Given the description of an element on the screen output the (x, y) to click on. 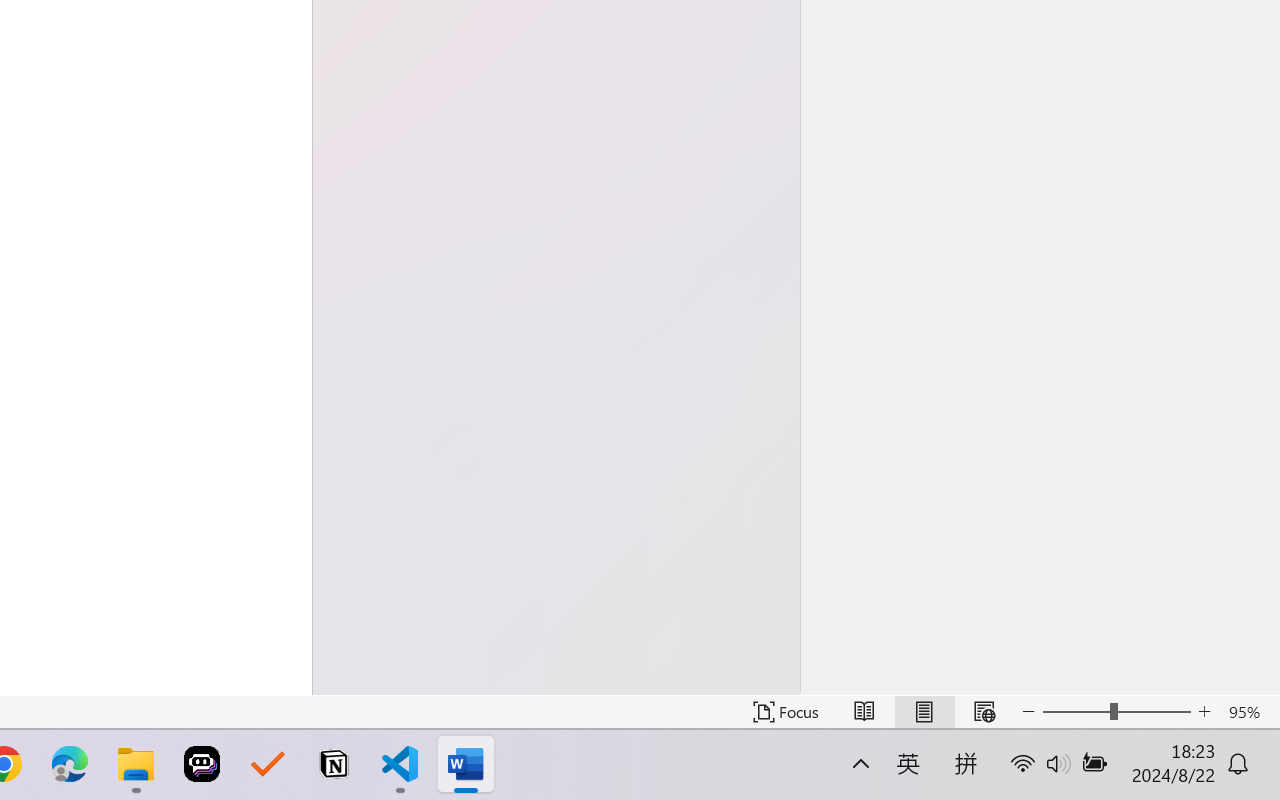
Zoom 95% (1249, 712)
